Given the description of an element on the screen output the (x, y) to click on. 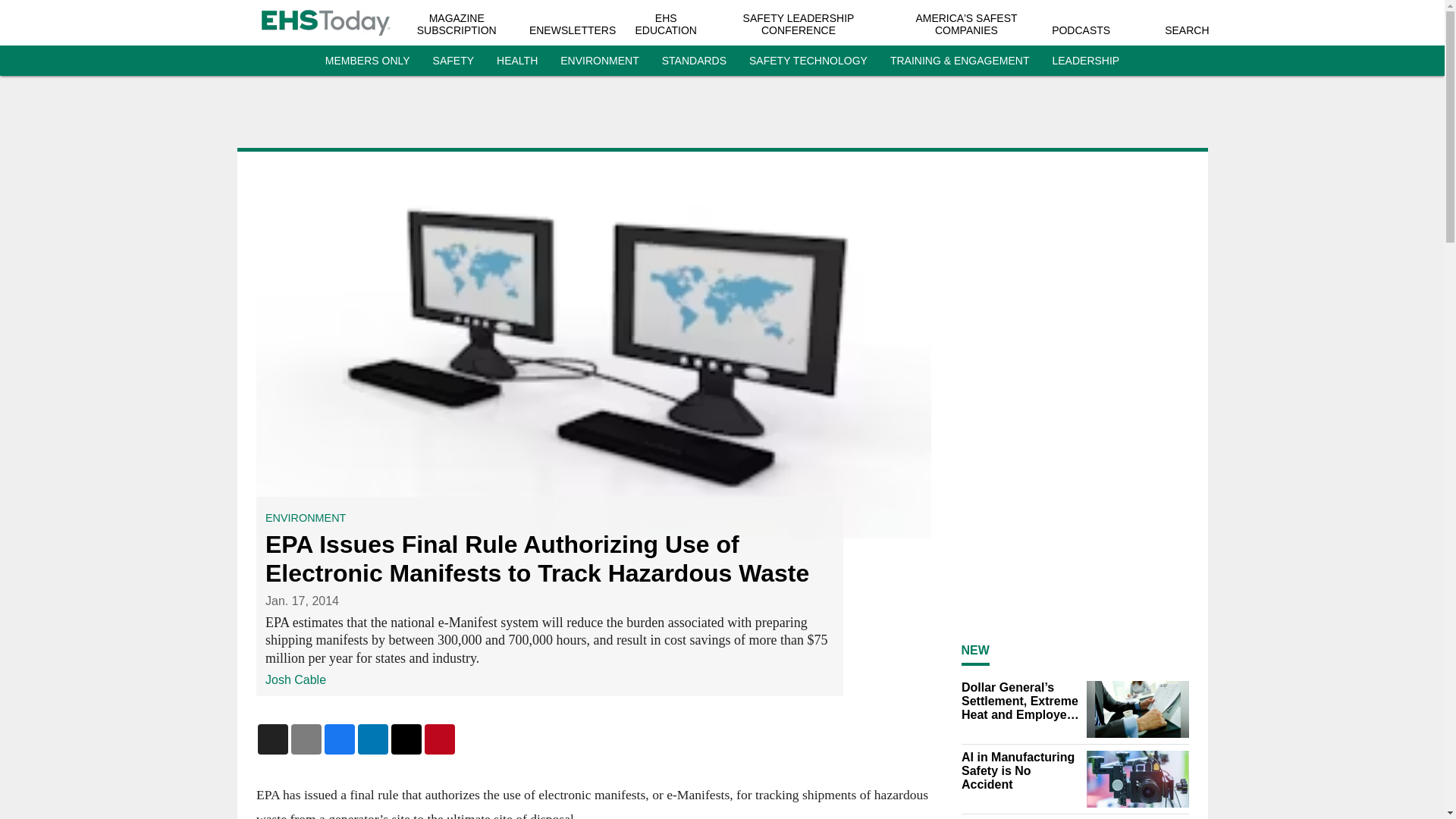
LEADERSHIP (1085, 60)
SAFETY LEADERSHIP CONFERENCE (798, 24)
AMERICA'S SAFEST COMPANIES (965, 24)
ENEWSLETTERS (572, 30)
MEMBERS ONLY (367, 60)
SAFETY (453, 60)
Josh Cable (295, 679)
SEARCH (1186, 30)
EHS EDUCATION (665, 24)
SAFETY TECHNOLOGY (808, 60)
MAGAZINE SUBSCRIPTION (456, 24)
STANDARDS (694, 60)
HEALTH (516, 60)
ENVIRONMENT (305, 517)
ENVIRONMENT (599, 60)
